Given the description of an element on the screen output the (x, y) to click on. 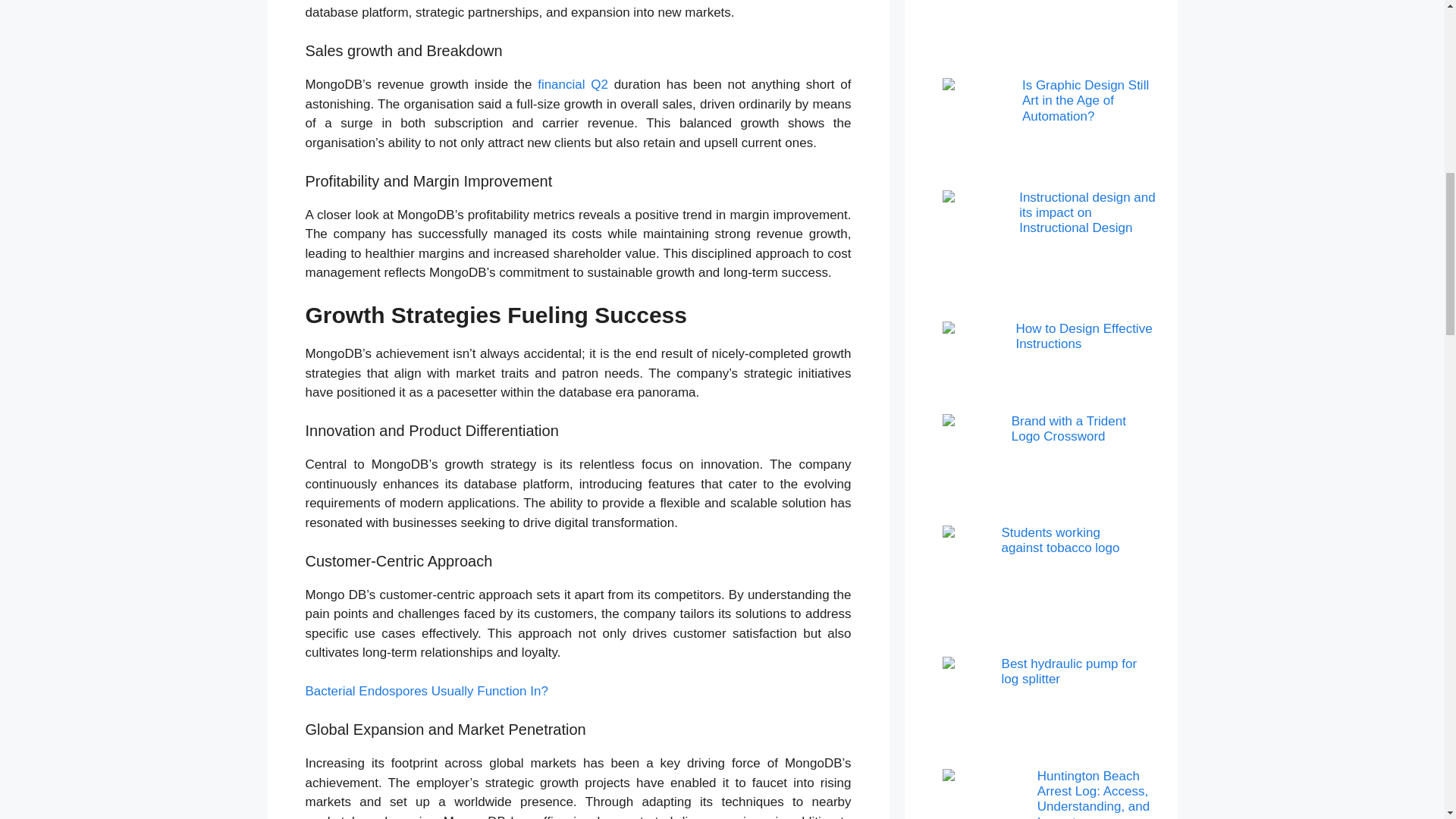
financial Q2 (572, 83)
Bacterial Endospores Usually Function In? (425, 690)
